Given the description of an element on the screen output the (x, y) to click on. 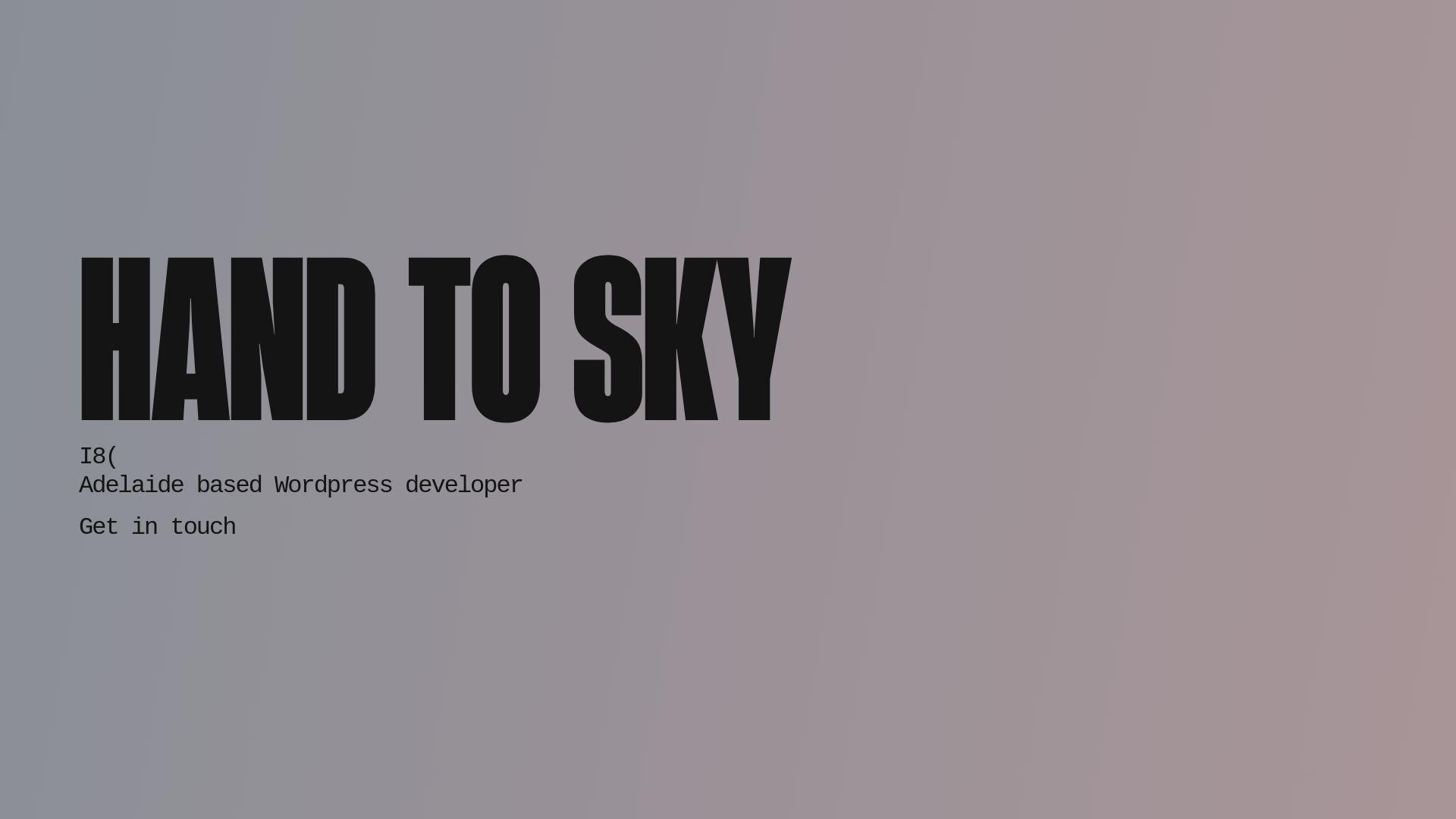
Get in touch Element type: text (300, 520)
